Given the description of an element on the screen output the (x, y) to click on. 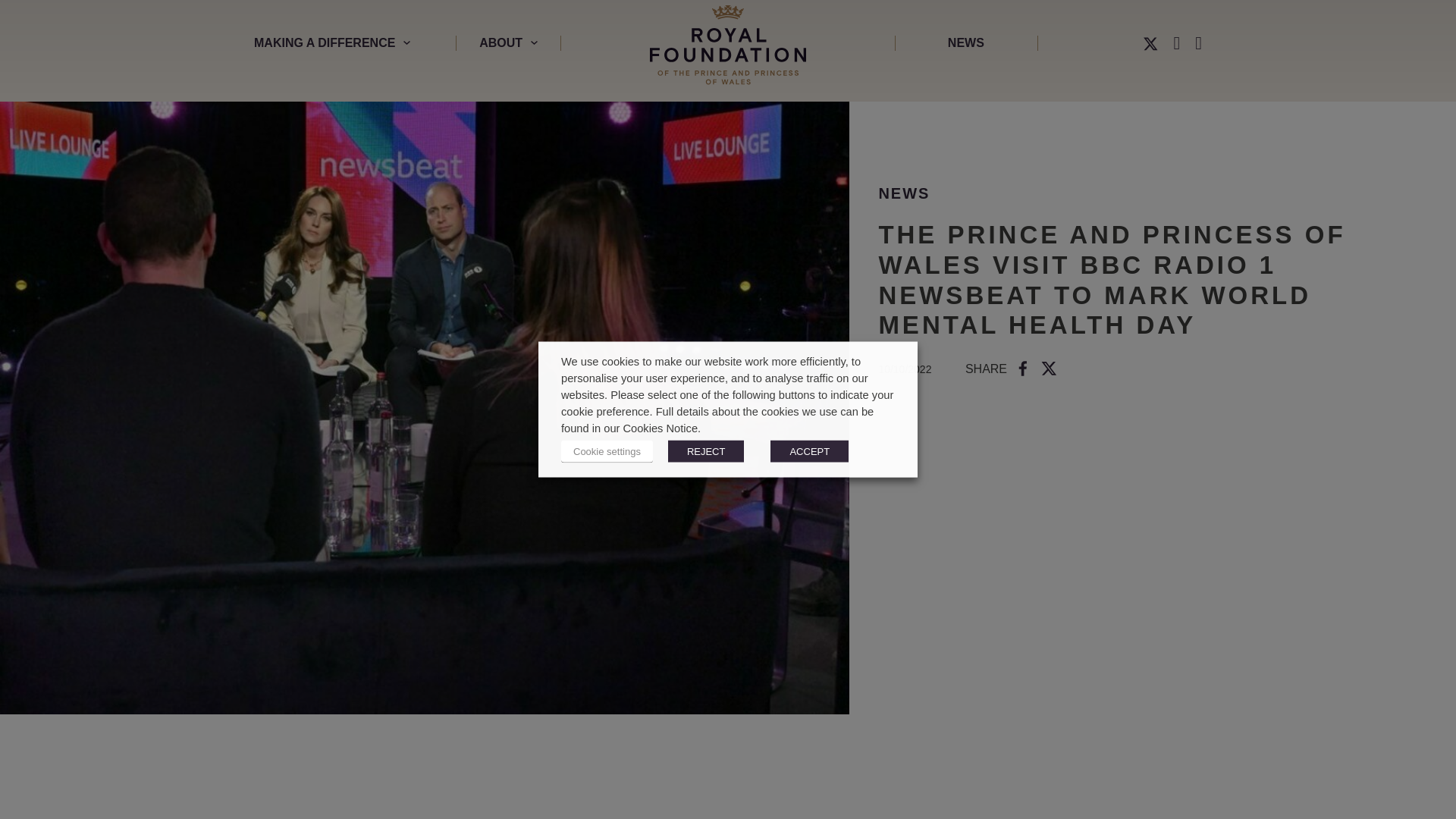
ACCEPT (809, 450)
NEWS (903, 193)
Cookie settings (606, 450)
REJECT (706, 450)
ABOUT (508, 42)
NEWS (965, 42)
MAKING A DIFFERENCE (355, 42)
TWITTER (1149, 42)
